Given the description of an element on the screen output the (x, y) to click on. 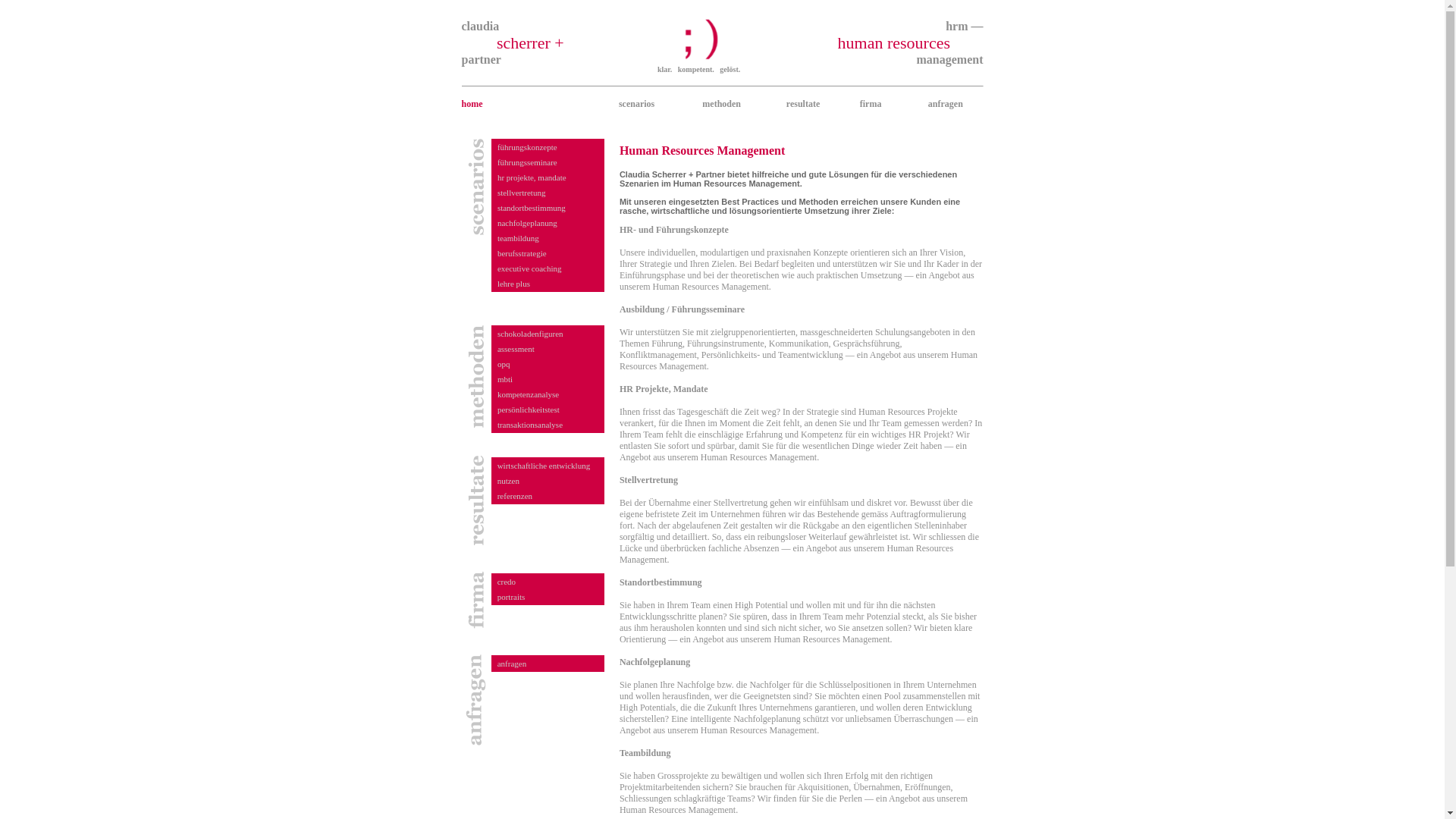
home Element type: text (471, 103)
scenarios Element type: text (636, 103)
standortbestimmung Element type: text (531, 207)
teambildung Element type: text (518, 237)
Nachfolgeplanung Element type: text (654, 667)
nutzen Element type: text (508, 480)
anfragen Element type: text (511, 663)
portraits Element type: text (511, 596)
mbti Element type: text (504, 378)
stellvertretung Element type: text (521, 192)
methoden Element type: text (721, 103)
executive coaching Element type: text (529, 268)
kompetenzanalyse Element type: text (528, 394)
Teambildung Element type: text (645, 758)
Stellvertretung Element type: text (648, 485)
transaktionsanalyse Element type: text (529, 424)
lehre plus Element type: text (513, 283)
credo Element type: text (506, 581)
firma Element type: text (870, 103)
Standortbestimmung Element type: text (660, 588)
wirtschaftliche entwicklung Element type: text (544, 465)
hr projekte, mandate Element type: text (531, 177)
resultate Element type: text (802, 103)
schokoladenfiguren Element type: text (530, 333)
opq Element type: text (503, 363)
berufsstrategie Element type: text (522, 253)
nachfolgeplanung Element type: text (527, 222)
assessment Element type: text (515, 348)
referenzen Element type: text (514, 495)
HR Projekte, Mandate Element type: text (663, 394)
anfragen Element type: text (945, 103)
